Given the description of an element on the screen output the (x, y) to click on. 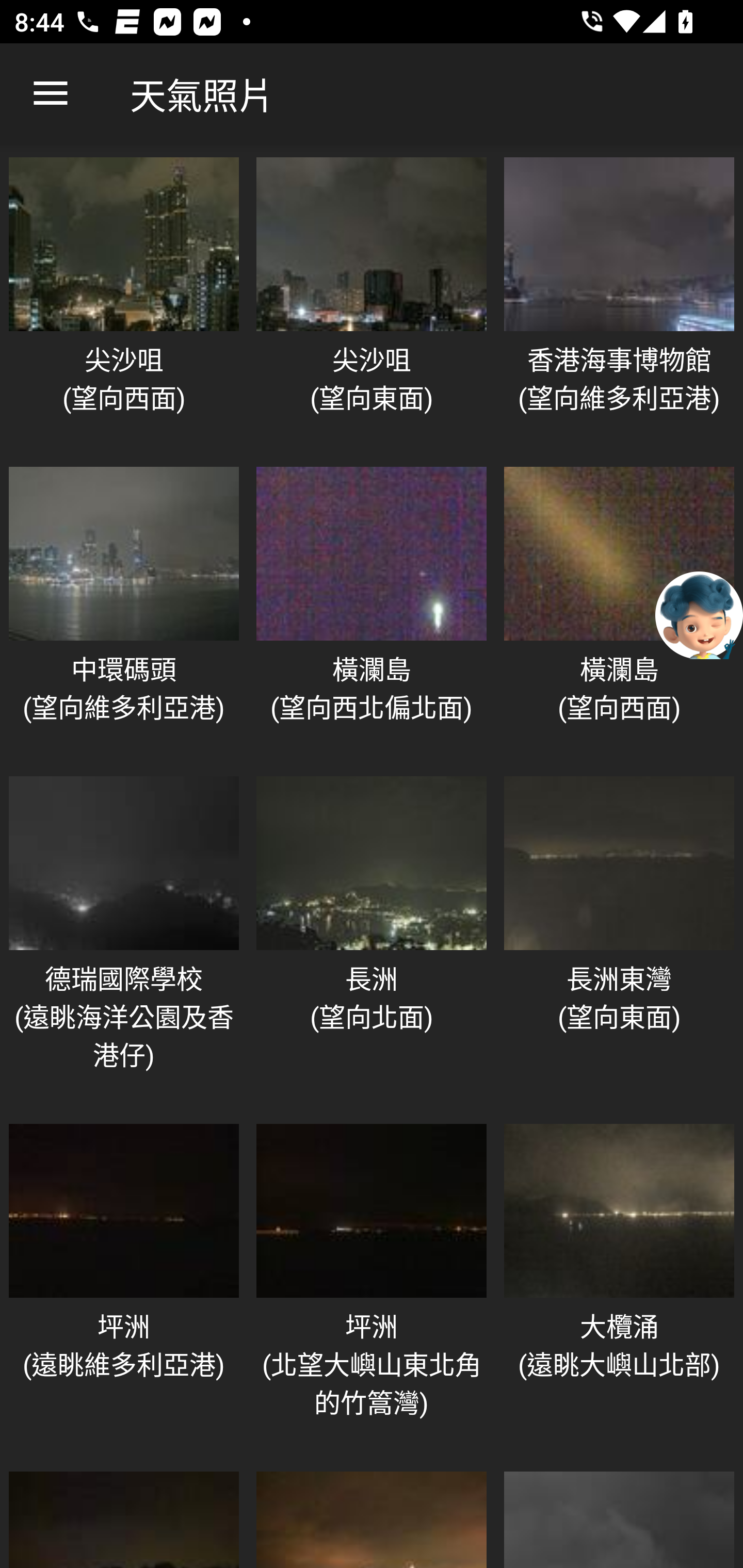
向上瀏覽 (50, 93)
尖沙咀
(望向西面) (123, 300)
尖沙咀
(望向東面) (371, 300)
香港海事博物館
(望向維多利亞港) (619, 300)
中環碼頭
(望向維多利亞港) (123, 610)
橫瀾島
(望向西北偏北面) (371, 610)
橫瀾島
(望向西面) (619, 610)
聊天機械人 (699, 614)
德瑞國際學校
(遠眺海洋公園及香港仔) (123, 939)
長洲
(望向北面) (371, 939)
長洲東灣
(望向東面) (619, 939)
坪洲
(遠眺維多利亞港) (123, 1287)
坪洲
(北望大嶼山東北角的竹篙灣) (371, 1287)
大欖涌
(遠眺大嶼山北部) (619, 1287)
